Given the description of an element on the screen output the (x, y) to click on. 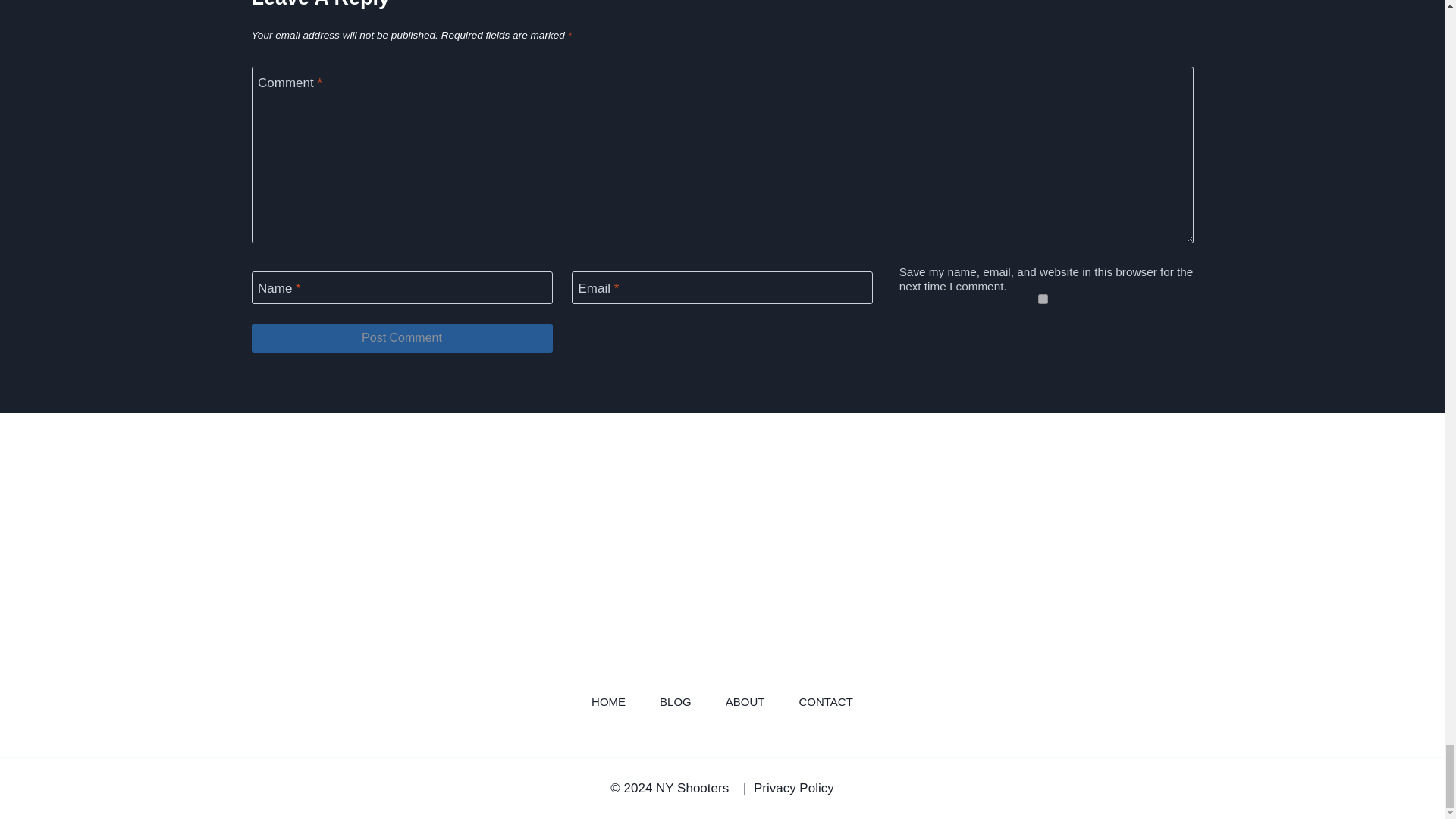
Post Comment (402, 337)
yes (1041, 298)
